Given the description of an element on the screen output the (x, y) to click on. 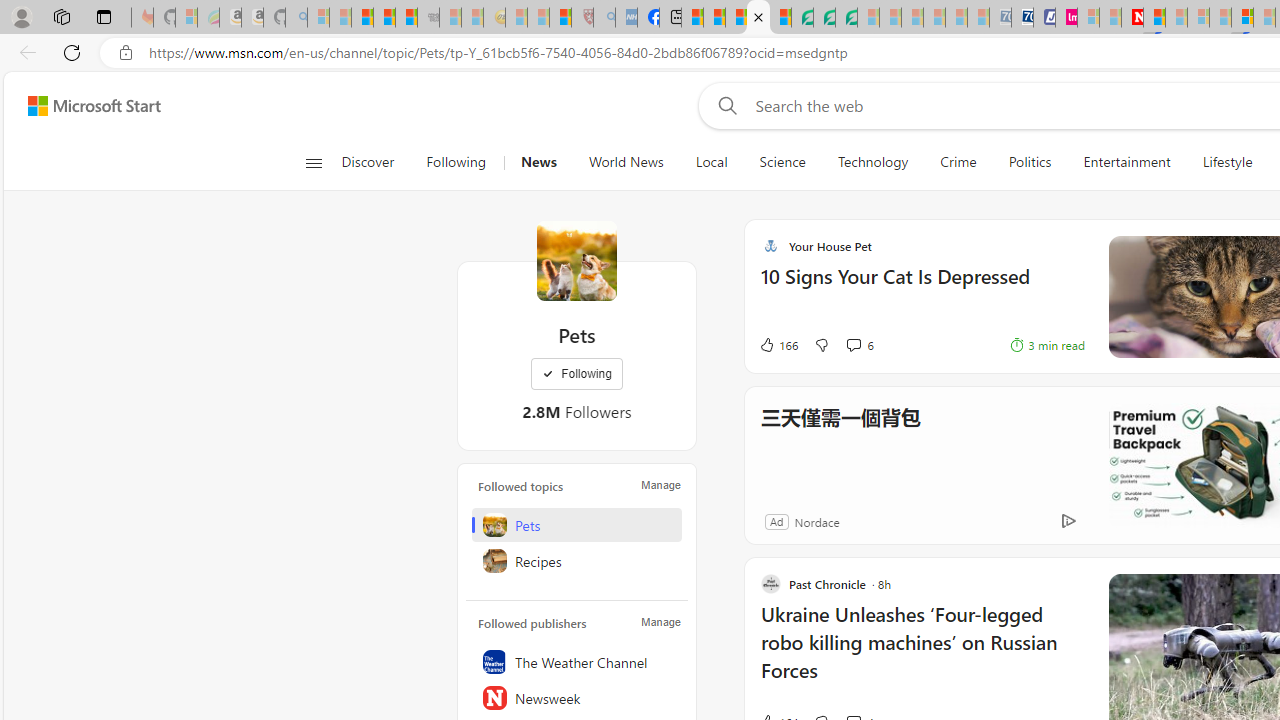
Class: button-glyph (313, 162)
10 Signs Your Cat Is Depressed (922, 286)
Cheap Hotels - Save70.com (1022, 17)
